Given the description of an element on the screen output the (x, y) to click on. 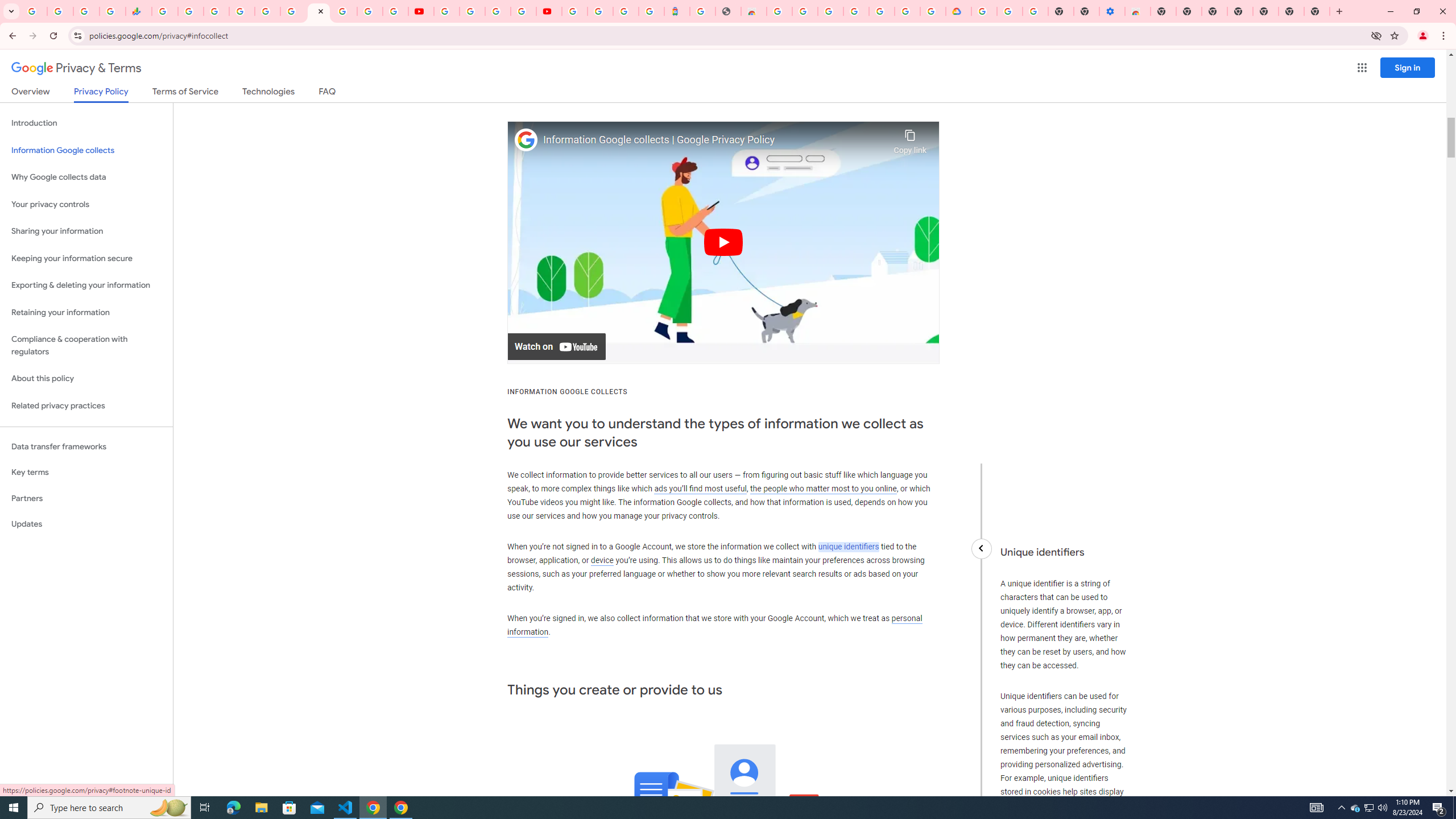
New Tab (1162, 11)
Exporting & deleting your information (86, 284)
Settings - Accessibility (1111, 11)
Sign in - Google Accounts (983, 11)
Google Workspace Admin Community (34, 11)
Copy link (909, 139)
